Given the description of an element on the screen output the (x, y) to click on. 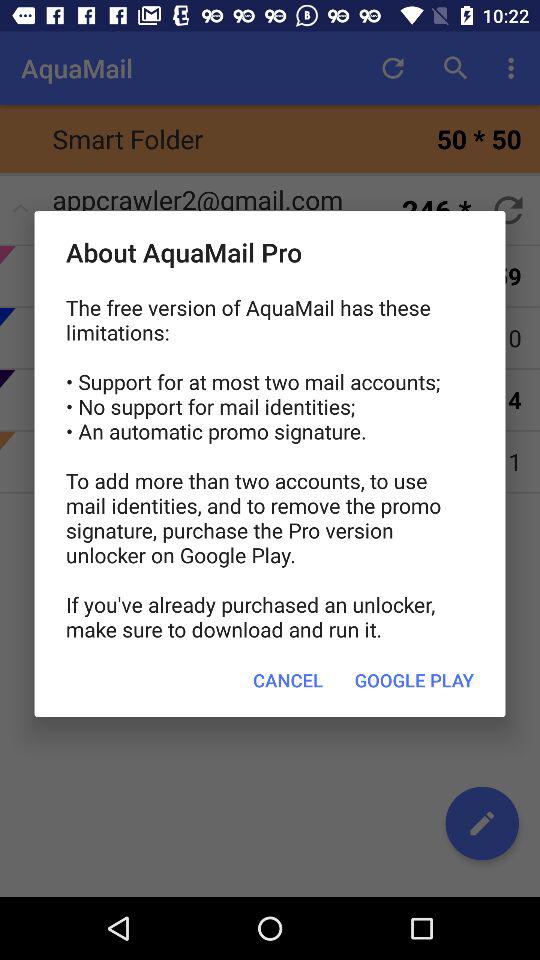
click icon below the the free version item (287, 679)
